Given the description of an element on the screen output the (x, y) to click on. 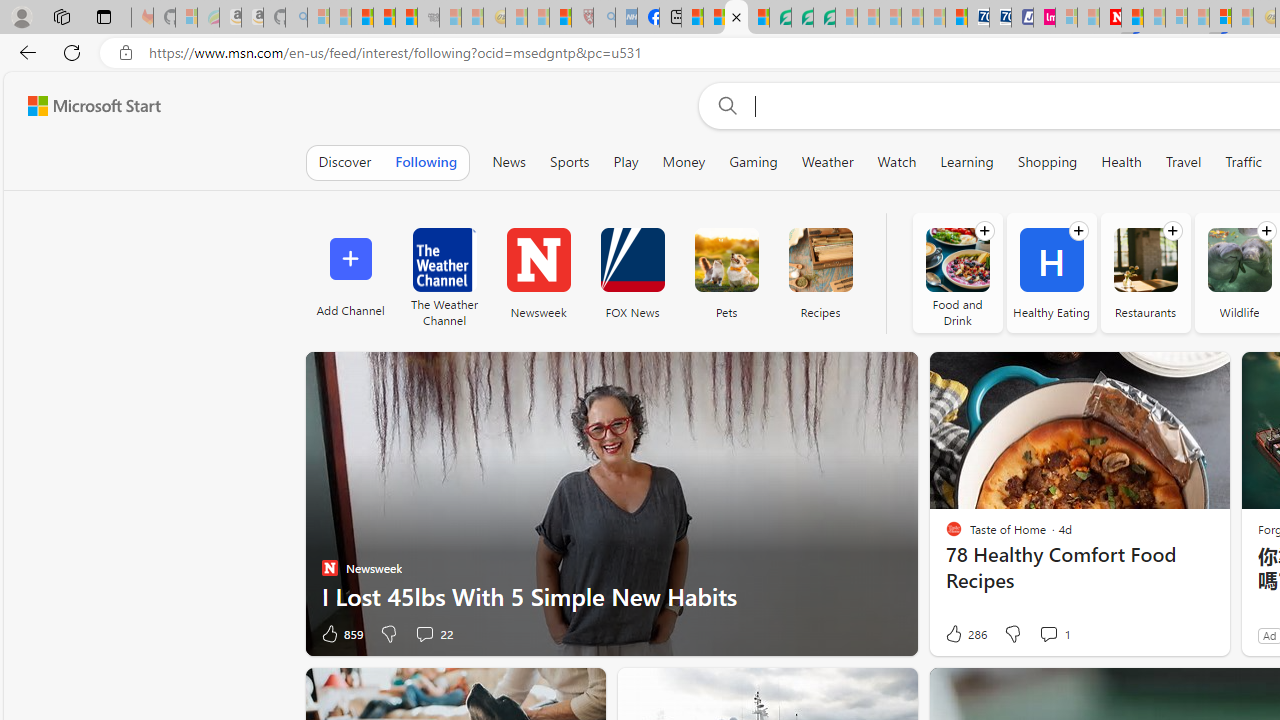
Follow channel (1266, 231)
Food and Drink (957, 272)
The Weather Channel (444, 260)
